Given the description of an element on the screen output the (x, y) to click on. 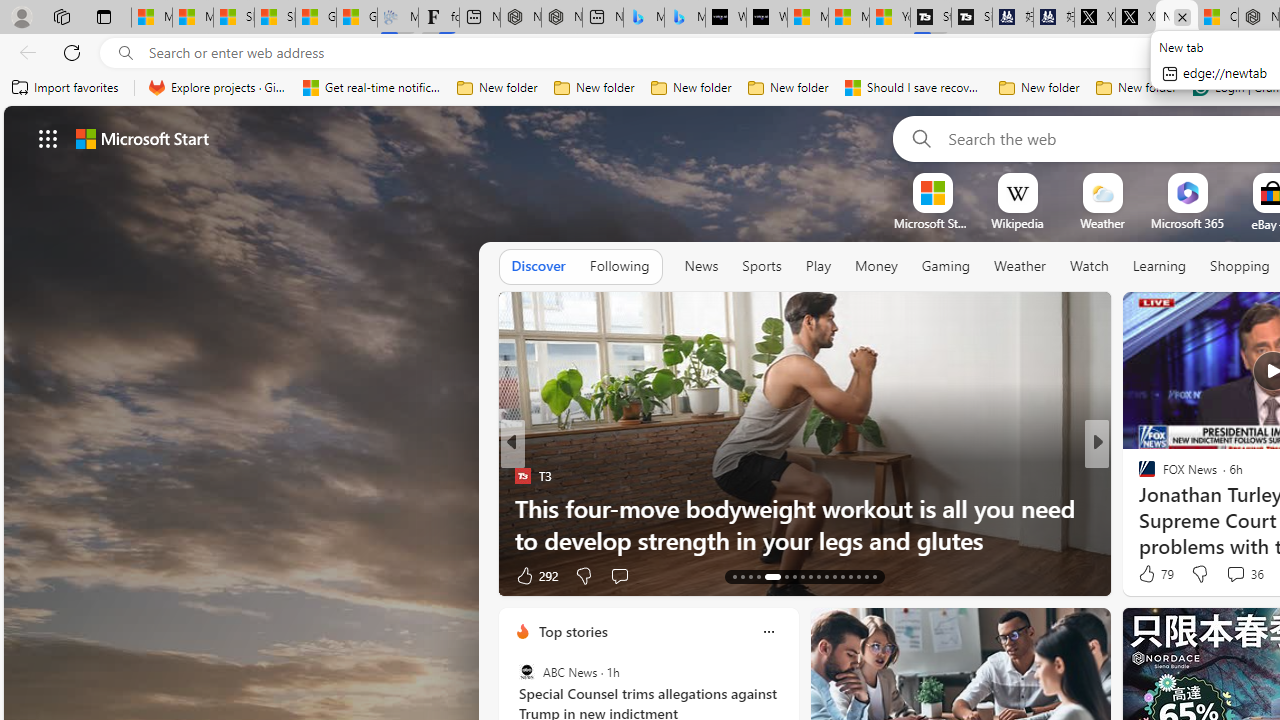
Liron Segev (1138, 507)
AutomationID: tab-19 (793, 576)
HuffPost (1138, 475)
Microsoft Start Sports (808, 17)
View comments 8 Comment (1234, 574)
AutomationID: tab-24 (833, 576)
News (701, 267)
Streaming Coverage | T3 (931, 17)
960 Like (1151, 574)
This story is trending (449, 579)
Personal Profile (21, 16)
AutomationID: tab-39 (865, 576)
MSNBC (1138, 507)
